Given the description of an element on the screen output the (x, y) to click on. 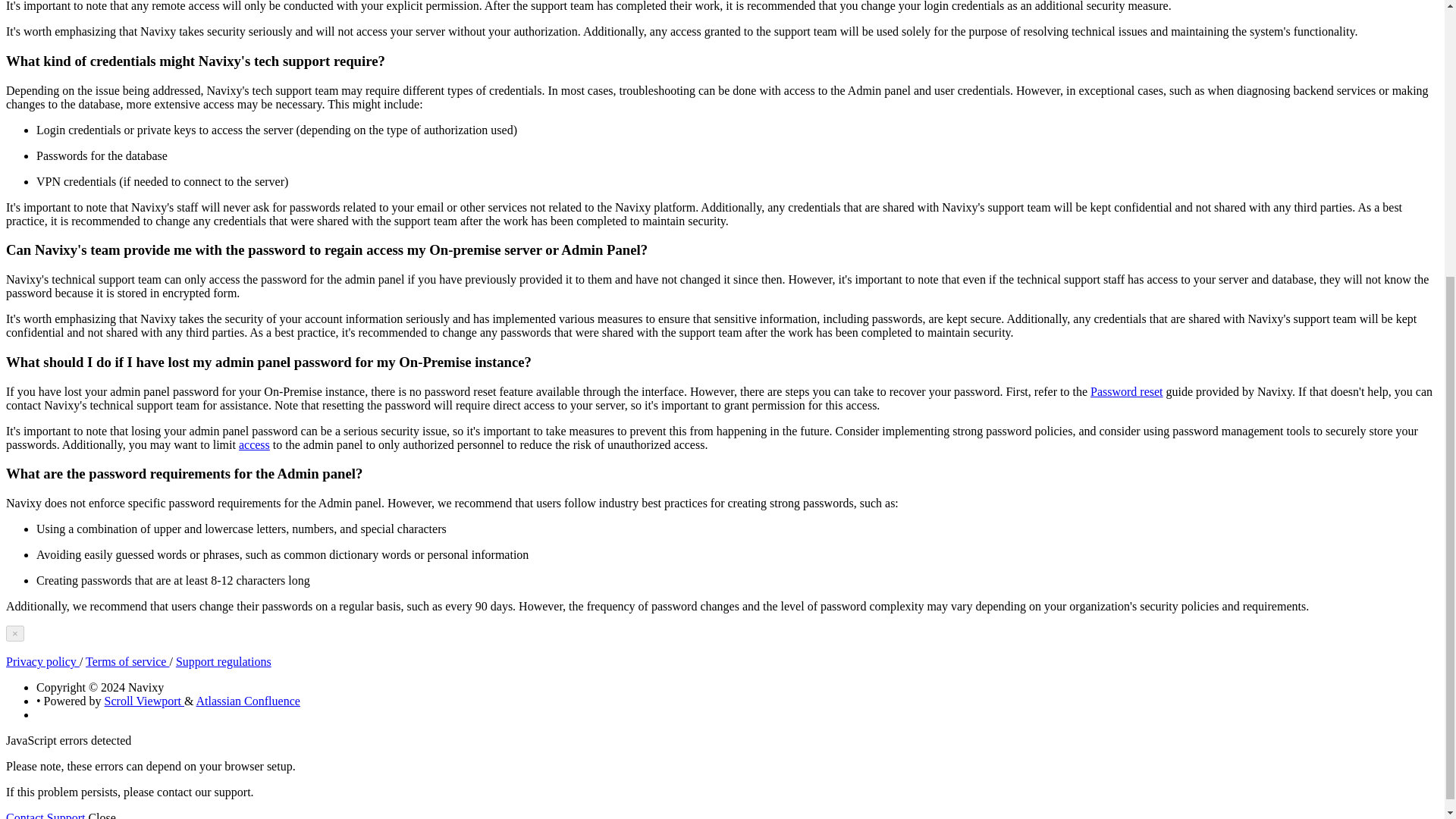
Support regulations (223, 661)
Atlassian Confluence (247, 700)
Terms of service (126, 661)
Password reset (1126, 391)
Privacy policy (42, 661)
Scroll Viewport (144, 700)
access (253, 444)
Close modal (14, 633)
